Given the description of an element on the screen output the (x, y) to click on. 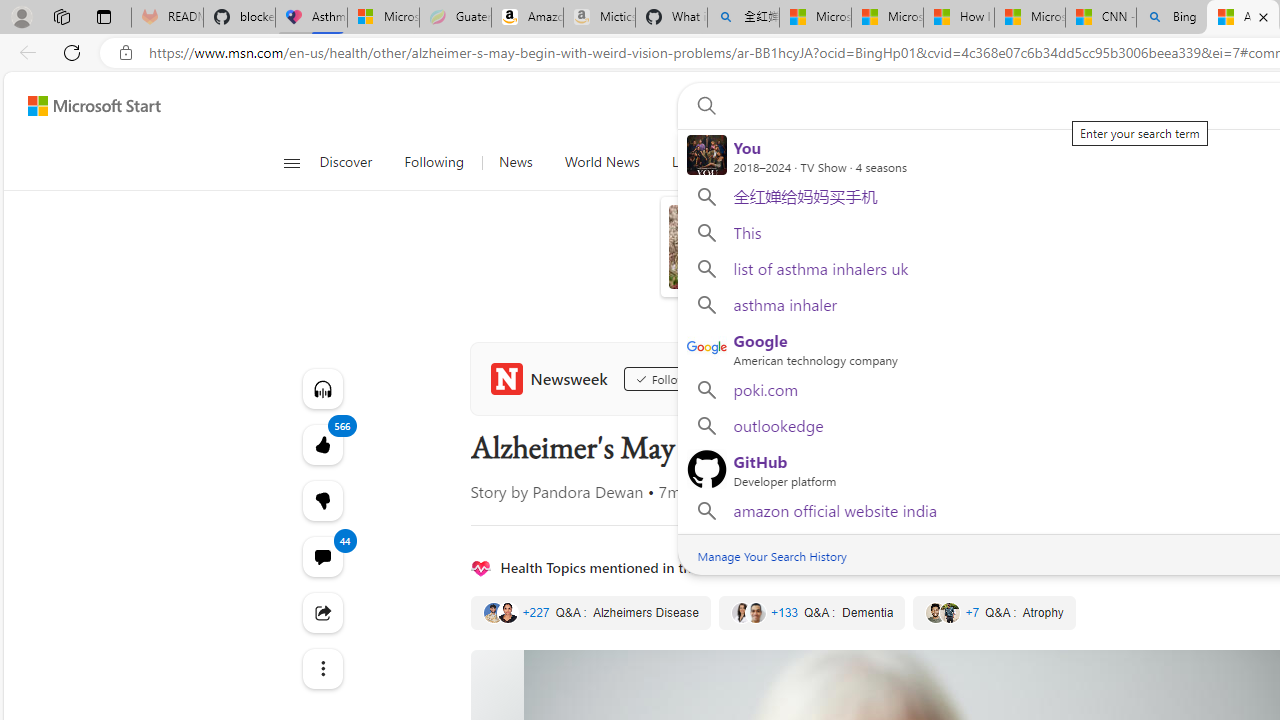
566 (322, 500)
Manage Your Search History (772, 555)
Share this story (322, 612)
How I Got Rid of Microsoft Edge's Unnecessary Features (959, 17)
Politics (1005, 162)
Atrophy (994, 613)
Class: button-glyph (290, 162)
